Given the description of an element on the screen output the (x, y) to click on. 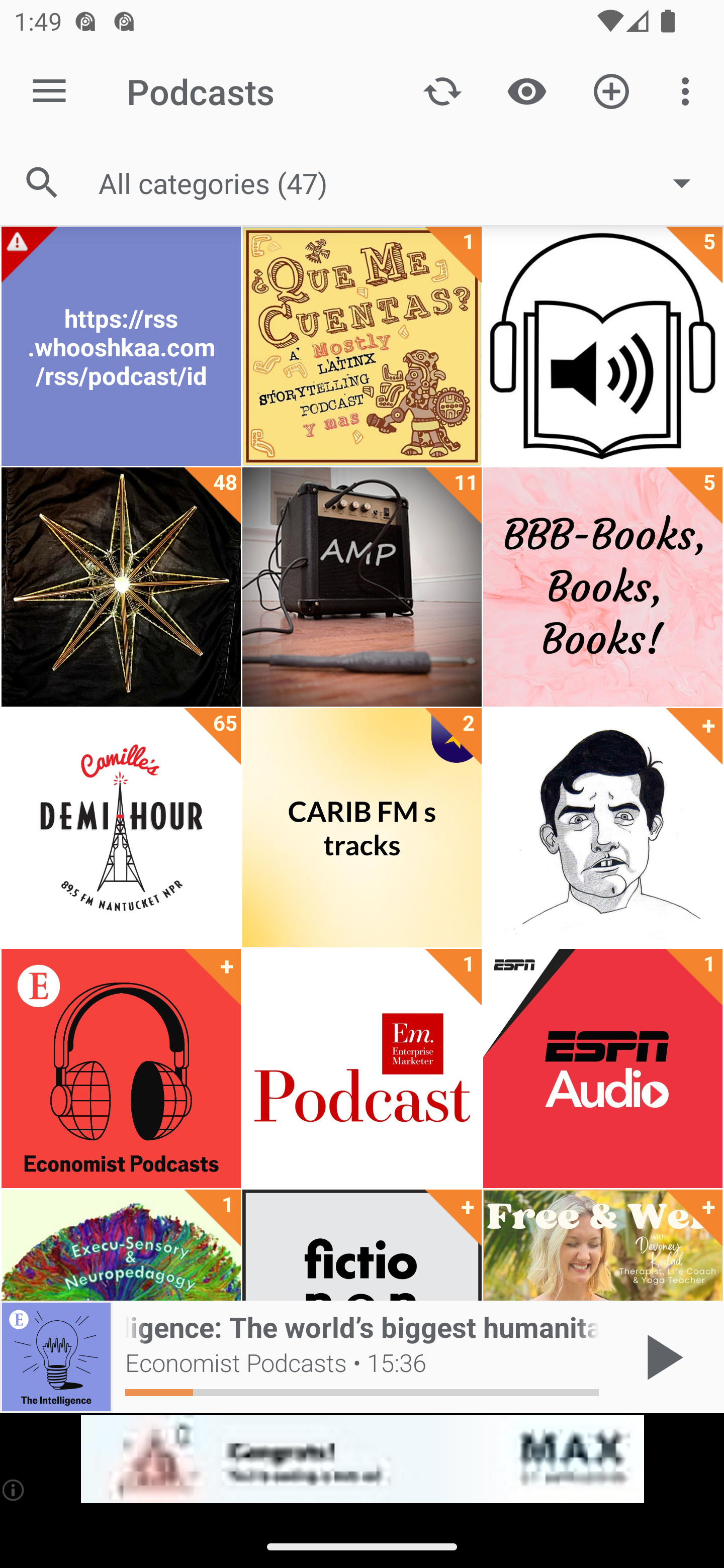
Open navigation sidebar (49, 91)
Update (442, 90)
Show / Hide played content (526, 90)
Add new Podcast (611, 90)
More options (688, 90)
Search (42, 183)
All categories (47) (404, 182)
https://rss.whooshkaa.com/rss/podcast/id/5884 (121, 346)
¿Qué Me Cuentas?: Latinx Storytelling 1 (361, 346)
Audiobooks 5 (602, 346)
Audiobooks 48 (121, 587)
Australian Music Podcasts 11 (361, 587)
BBB-Books, Books, Books! 5 (602, 587)
Camille's Demi-Hour - NANTUCKET NPR 65 (121, 827)
CARIB FM's tracks 2 (361, 827)
Cooking Issues with Dave Arnold + (602, 827)
Economist Podcasts + (121, 1068)
Enterprise Marketer Podcast - Conference 1 (361, 1068)
ESPN Audio 1 (602, 1068)
Play / Pause (660, 1356)
app-monetization (362, 1459)
(i) (14, 1489)
